Given the description of an element on the screen output the (x, y) to click on. 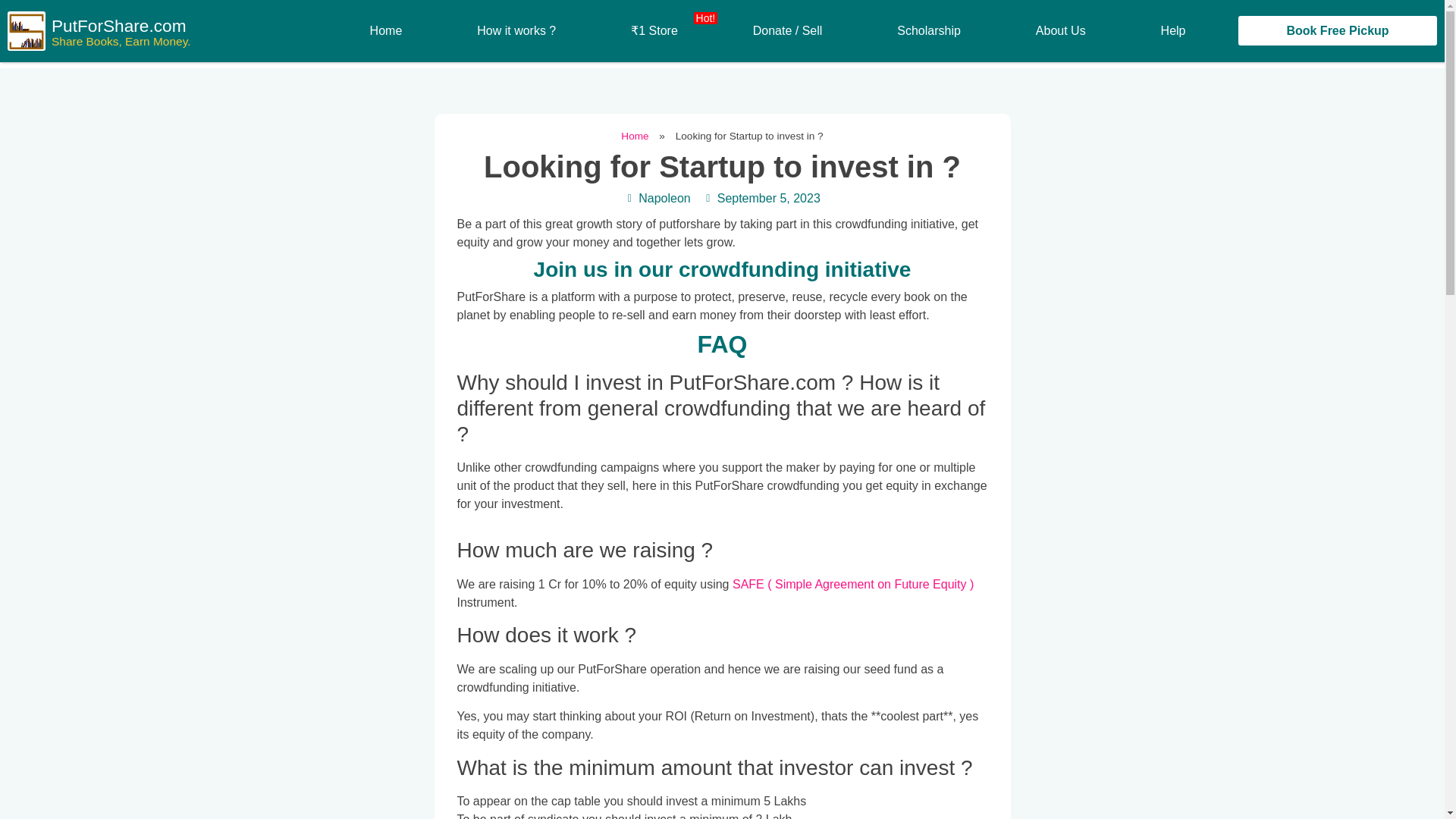
About Us (1059, 30)
Home (634, 135)
Share Books, Earn Money. (120, 41)
Scholarship (929, 30)
Home (385, 30)
How it works ? (516, 30)
Help (1172, 30)
Book Free Pickup (1338, 30)
Napoleon (657, 198)
PutForShare.com (118, 27)
September 5, 2023 (762, 198)
